Given the description of an element on the screen output the (x, y) to click on. 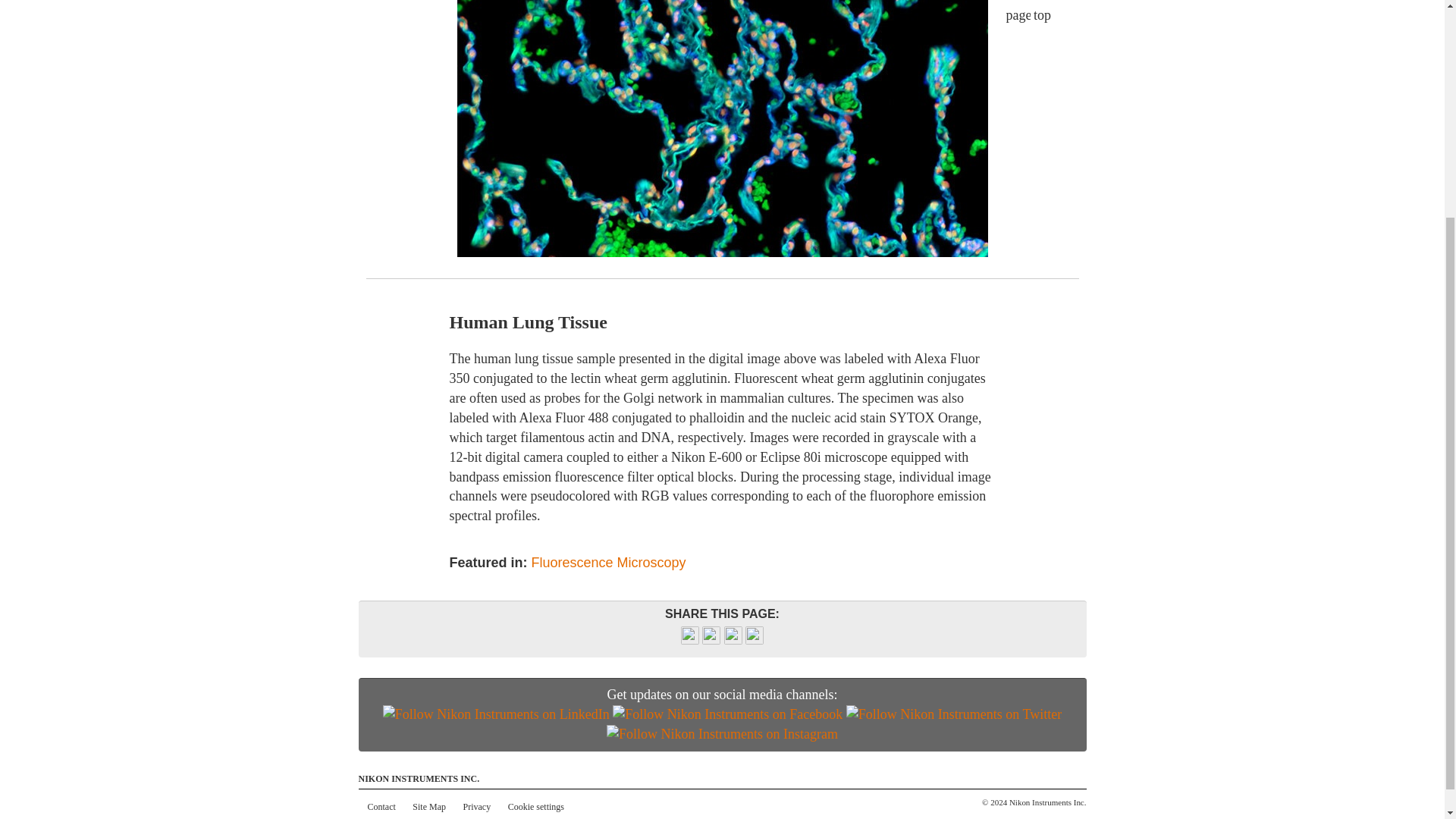
Fluorescence Microscopy (608, 562)
Email (753, 639)
Share on LinkedIn (732, 639)
Tweet (710, 639)
Share on Facebook (689, 639)
